Given the description of an element on the screen output the (x, y) to click on. 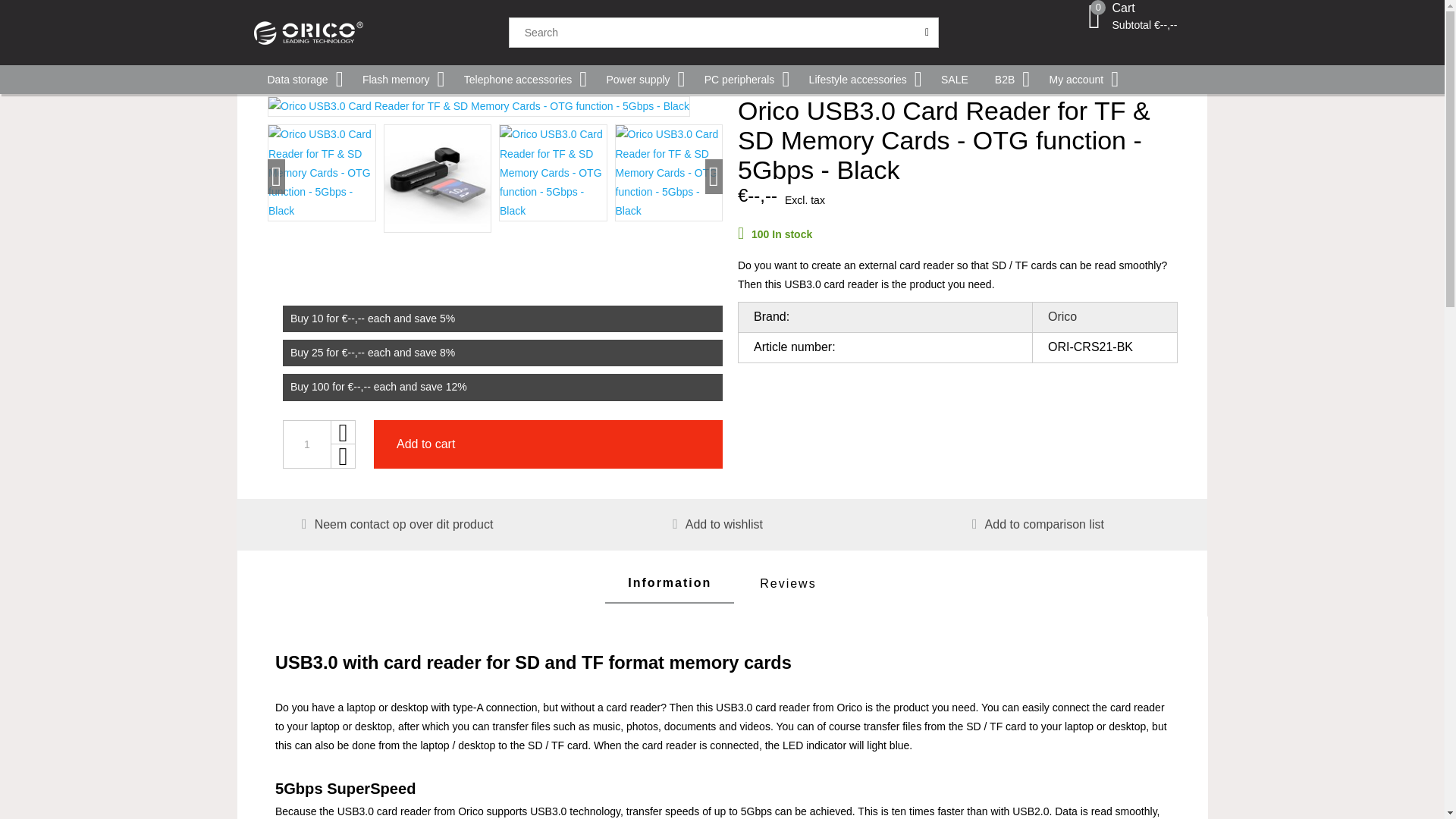
Search (927, 32)
My cart (1093, 24)
My cart (1093, 17)
Orico (379, 32)
Data storage (298, 79)
1 (306, 444)
Flash memory (397, 79)
Telephone accessories (519, 79)
Data storage (298, 79)
0 (1093, 24)
My cart (1144, 16)
